Given the description of an element on the screen output the (x, y) to click on. 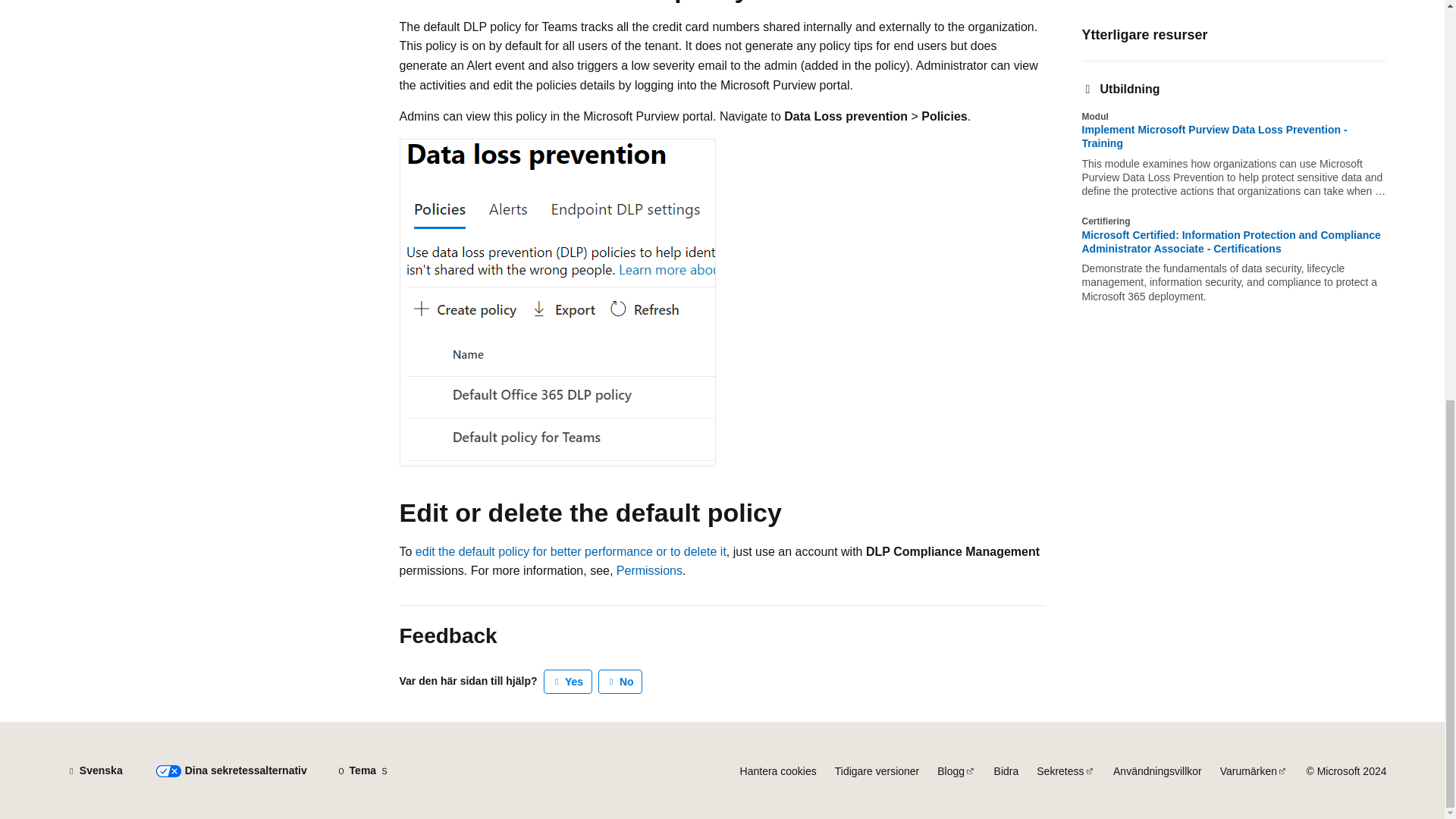
Permissions (648, 570)
Yes (567, 681)
No (620, 681)
Tema (362, 770)
